Given the description of an element on the screen output the (x, y) to click on. 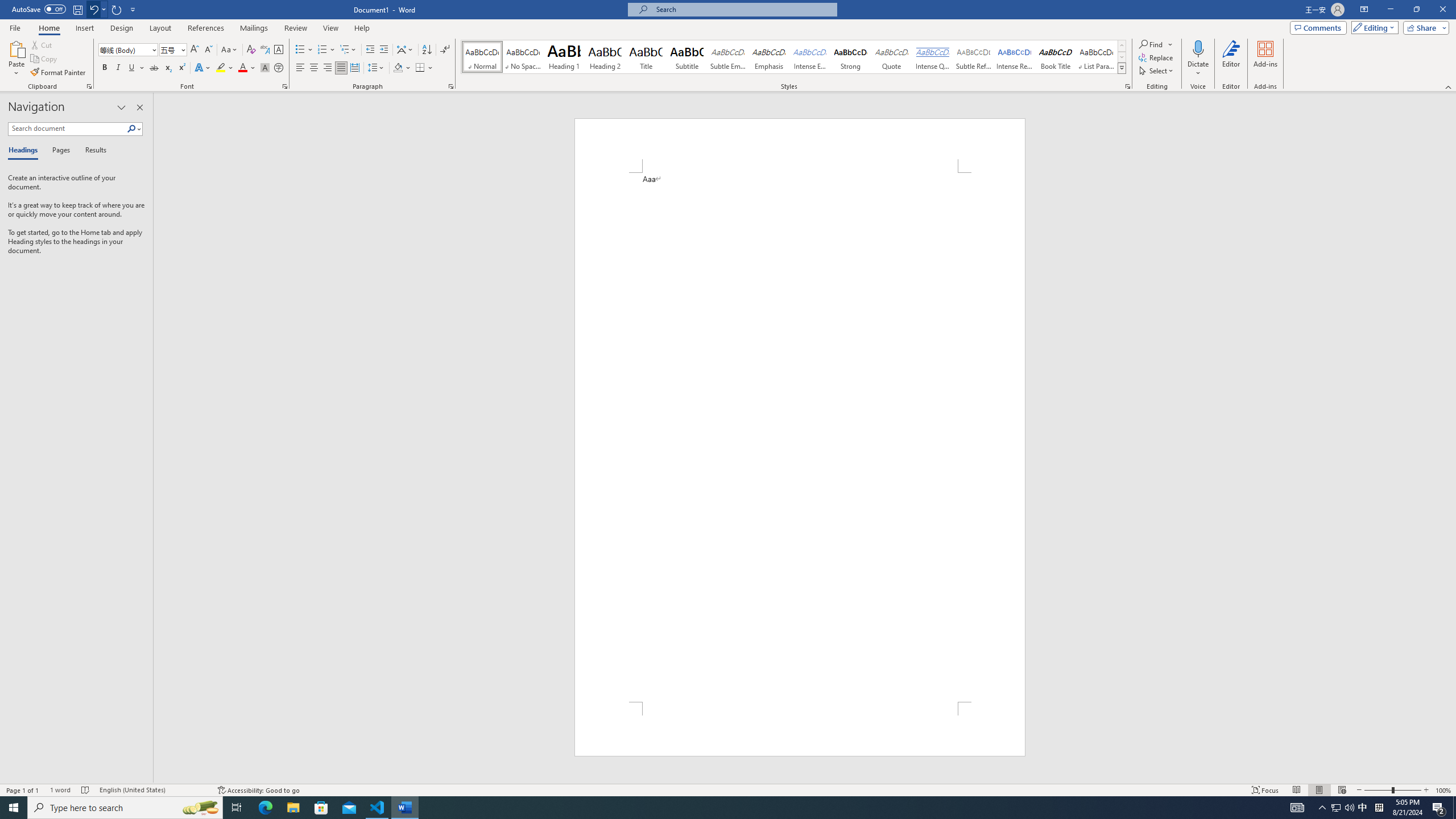
Undo AutoCorrect (92, 9)
Repeat Typing (117, 9)
Page Number Page 1 of 1 (22, 790)
